Given the description of an element on the screen output the (x, y) to click on. 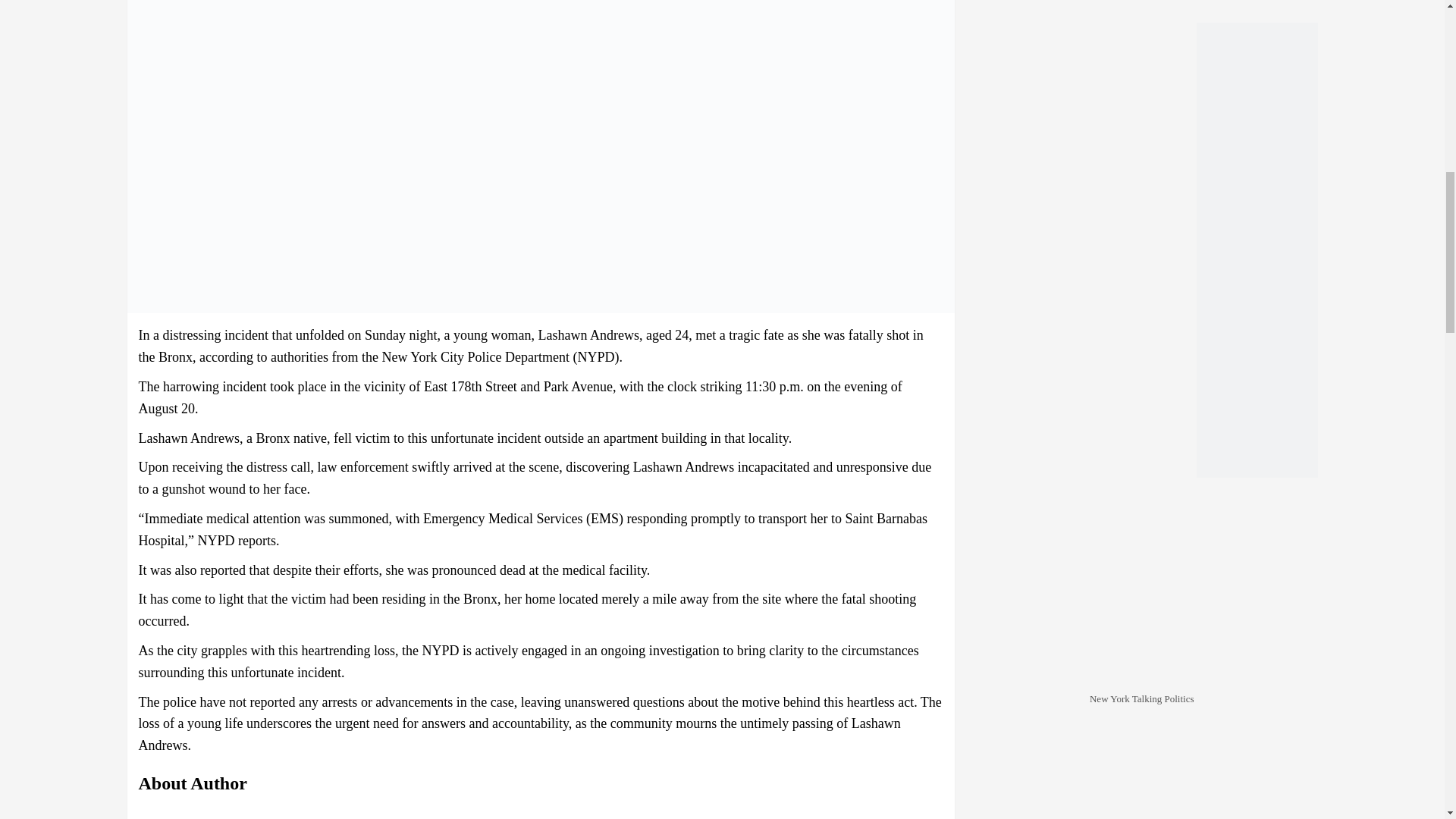
TALKING POLITICS (1141, 77)
Addressing The Muslim World (1141, 298)
WORLD INKERS NETWORK WITH DEVIKA MATHUR (1141, 540)
